Given the description of an element on the screen output the (x, y) to click on. 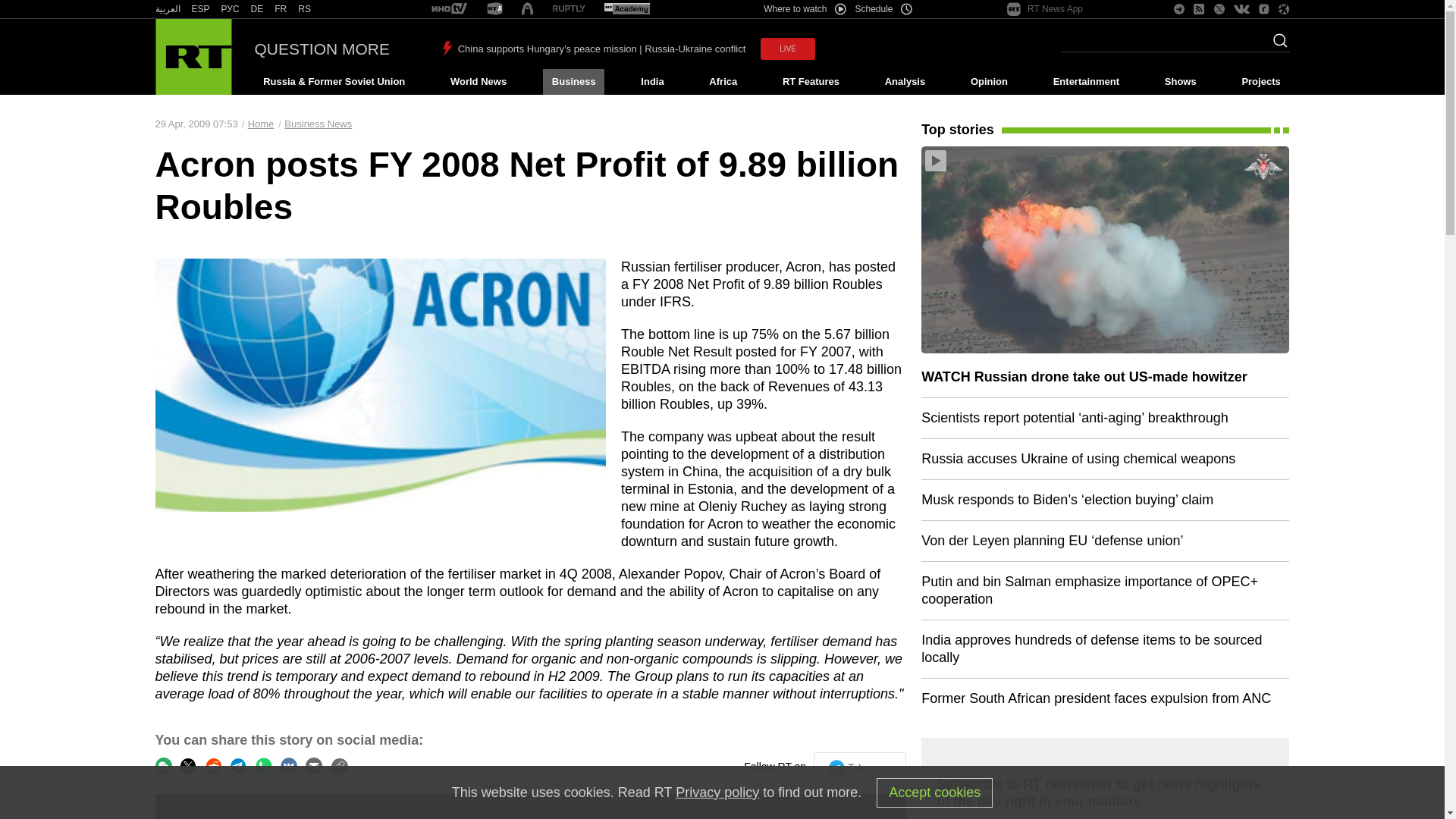
RT  (230, 9)
QUESTION MORE (322, 48)
Where to watch (803, 9)
RT  (626, 9)
RT  (304, 9)
Shows (1180, 81)
Entertainment (1085, 81)
Search (1276, 44)
India (651, 81)
ESP (199, 9)
RT  (256, 9)
RS (304, 9)
RT  (199, 9)
RT  (166, 9)
Opinion (988, 81)
